Given the description of an element on the screen output the (x, y) to click on. 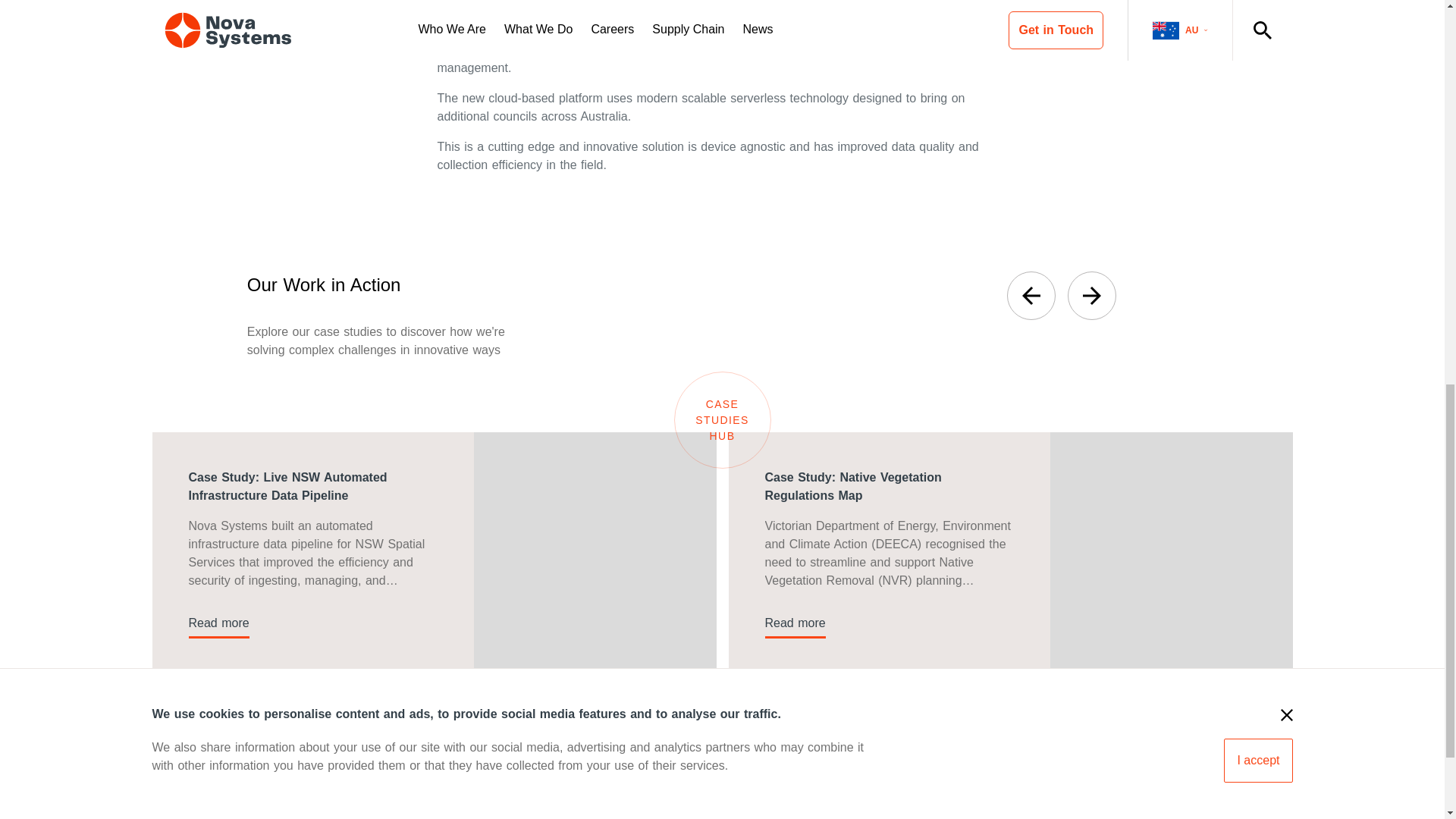
Read more (217, 623)
Read more (794, 623)
CASE STUDIES HUB (721, 419)
